Given the description of an element on the screen output the (x, y) to click on. 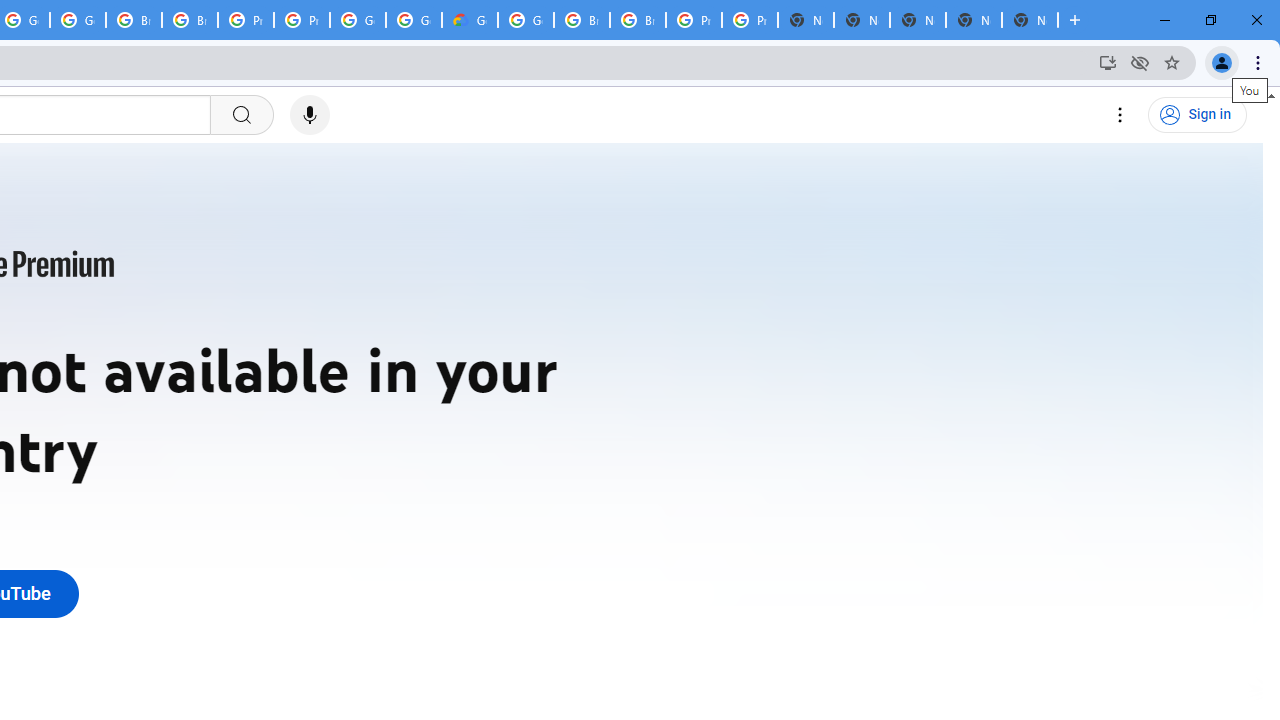
Google Cloud Estimate Summary (469, 20)
Browse Chrome as a guest - Computer - Google Chrome Help (189, 20)
Google Cloud Platform (358, 20)
Browse Chrome as a guest - Computer - Google Chrome Help (582, 20)
